Given the description of an element on the screen output the (x, y) to click on. 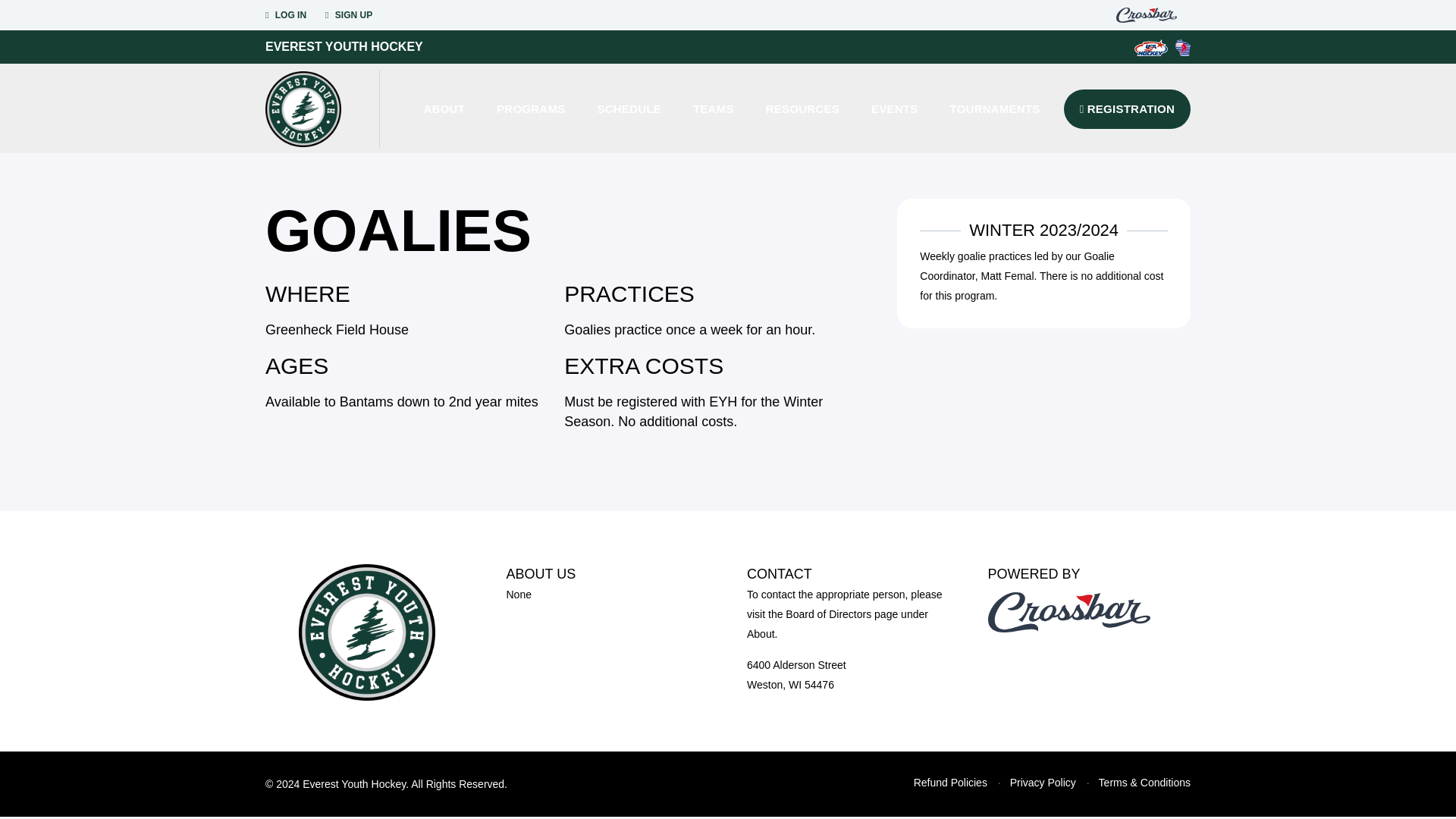
ABOUT (444, 108)
SIGN UP (348, 15)
SCHEDULE (628, 108)
EVEREST YOUTH HOCKEY (343, 46)
PROGRAMS (530, 108)
LOG IN (284, 15)
